Given the description of an element on the screen output the (x, y) to click on. 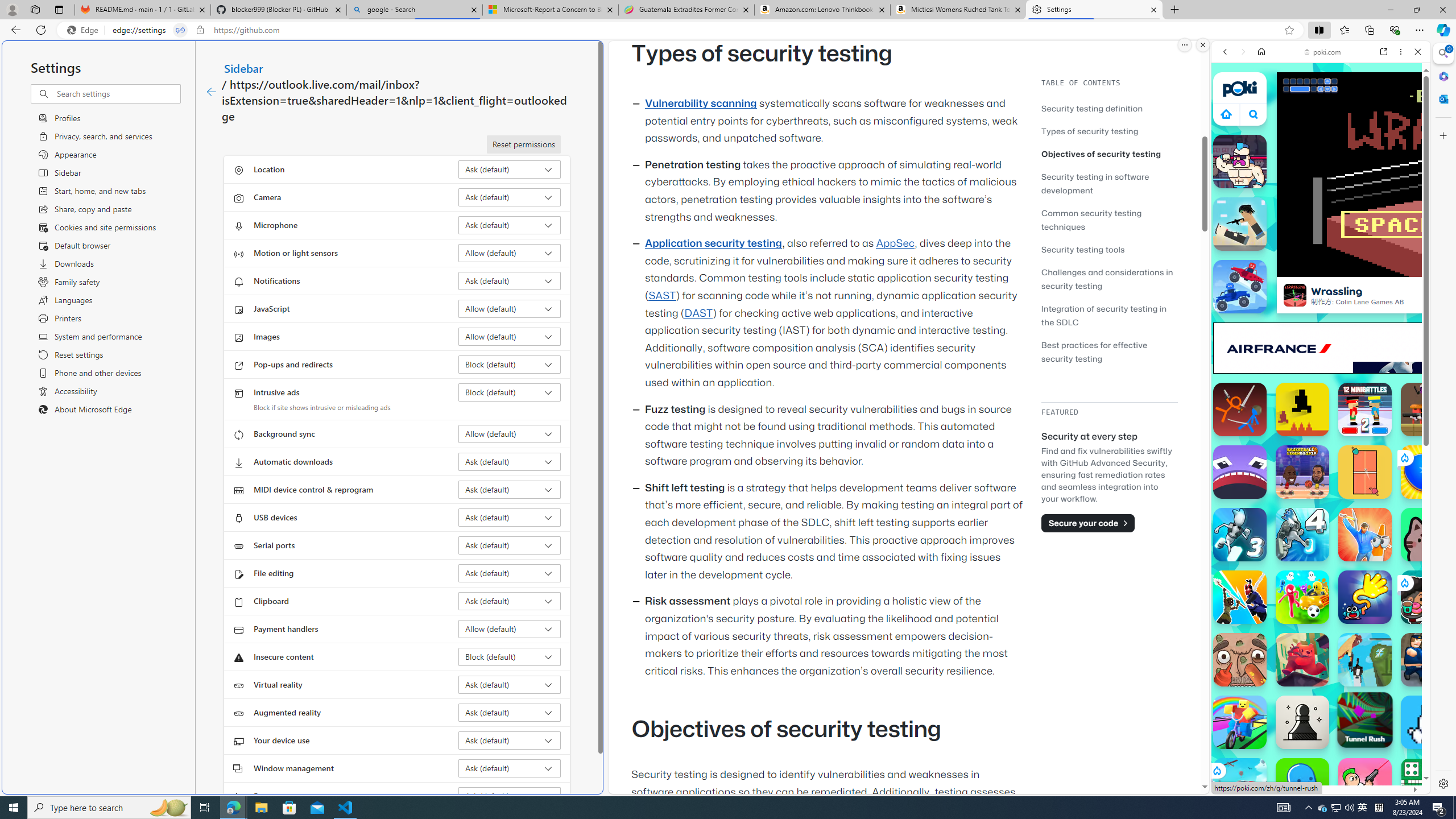
Shooting Games (1320, 295)
Hills of Steel Hills of Steel poki.com (1264, 548)
Rowdy Wrestling Rowdy Wrestling (1239, 161)
Level Devil Level Devil (1302, 409)
Battle Wheels (1239, 286)
G-Switch 3 (1239, 534)
Kate's Cooking Party 2 Kate's Cooking Party 2 (1427, 597)
Objectives of security testing (1101, 153)
Stunt Paradise Stunt Paradise (1239, 784)
